Given the description of an element on the screen output the (x, y) to click on. 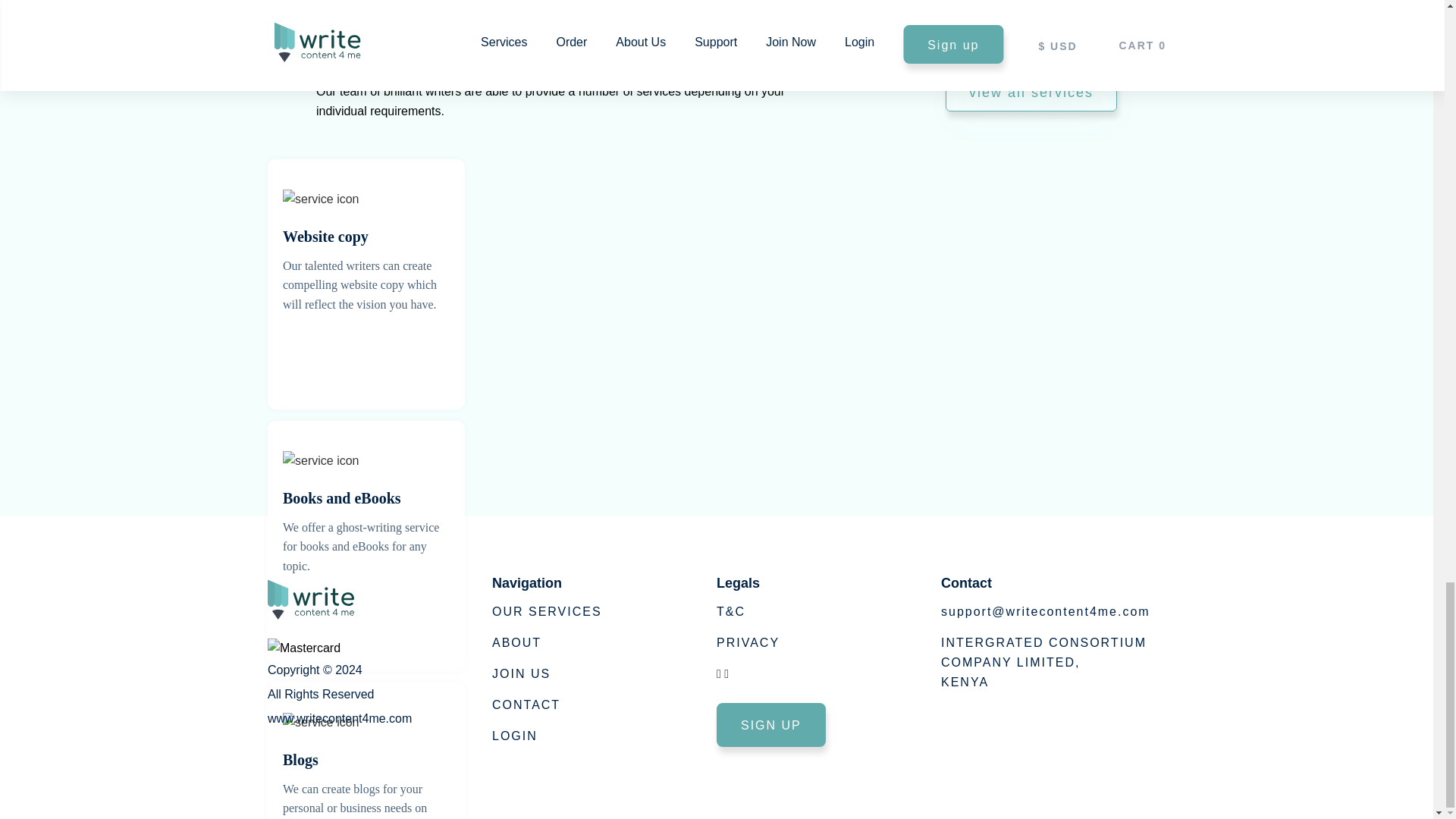
CONTACT (526, 709)
JOIN US (521, 680)
OUR SERVICES (547, 622)
PRIVACY (747, 644)
SIGN UP (1043, 662)
view all services (770, 725)
LOGIN (1030, 92)
www.writecontent4me.com (514, 739)
ABOUT (339, 735)
